Given the description of an element on the screen output the (x, y) to click on. 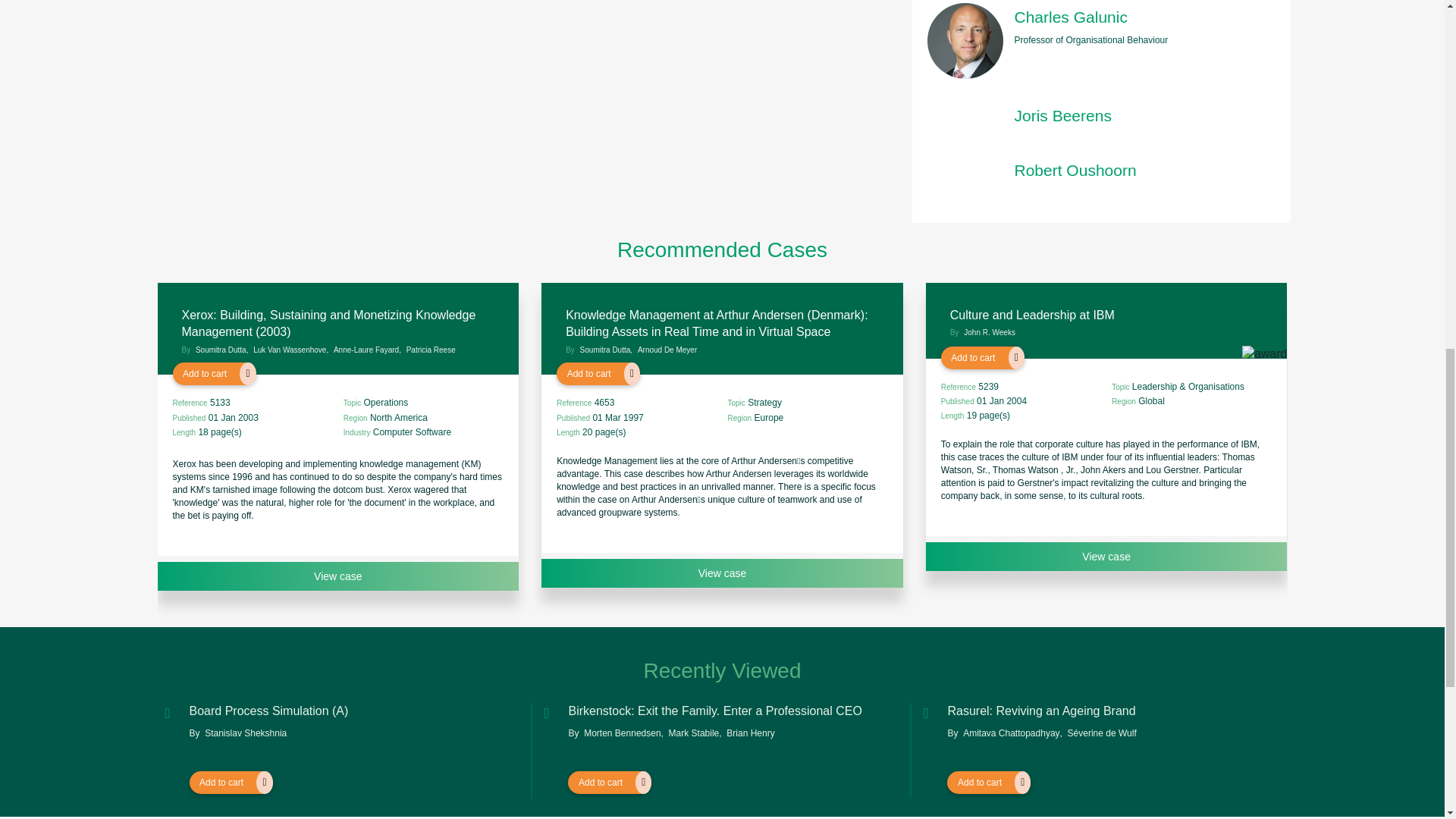
Award winning case (1264, 366)
